Given the description of an element on the screen output the (x, y) to click on. 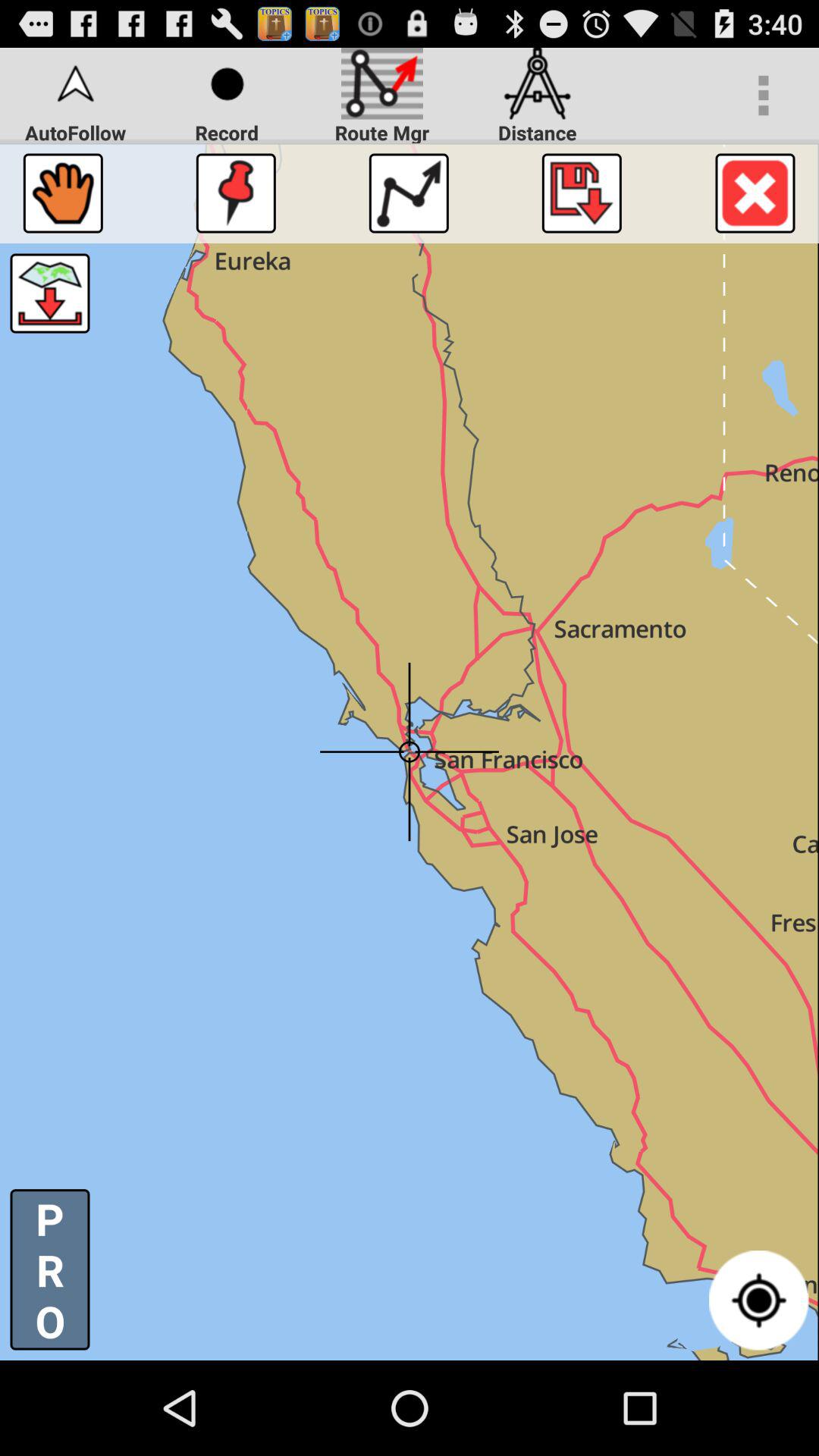
save to disk (581, 193)
